Given the description of an element on the screen output the (x, y) to click on. 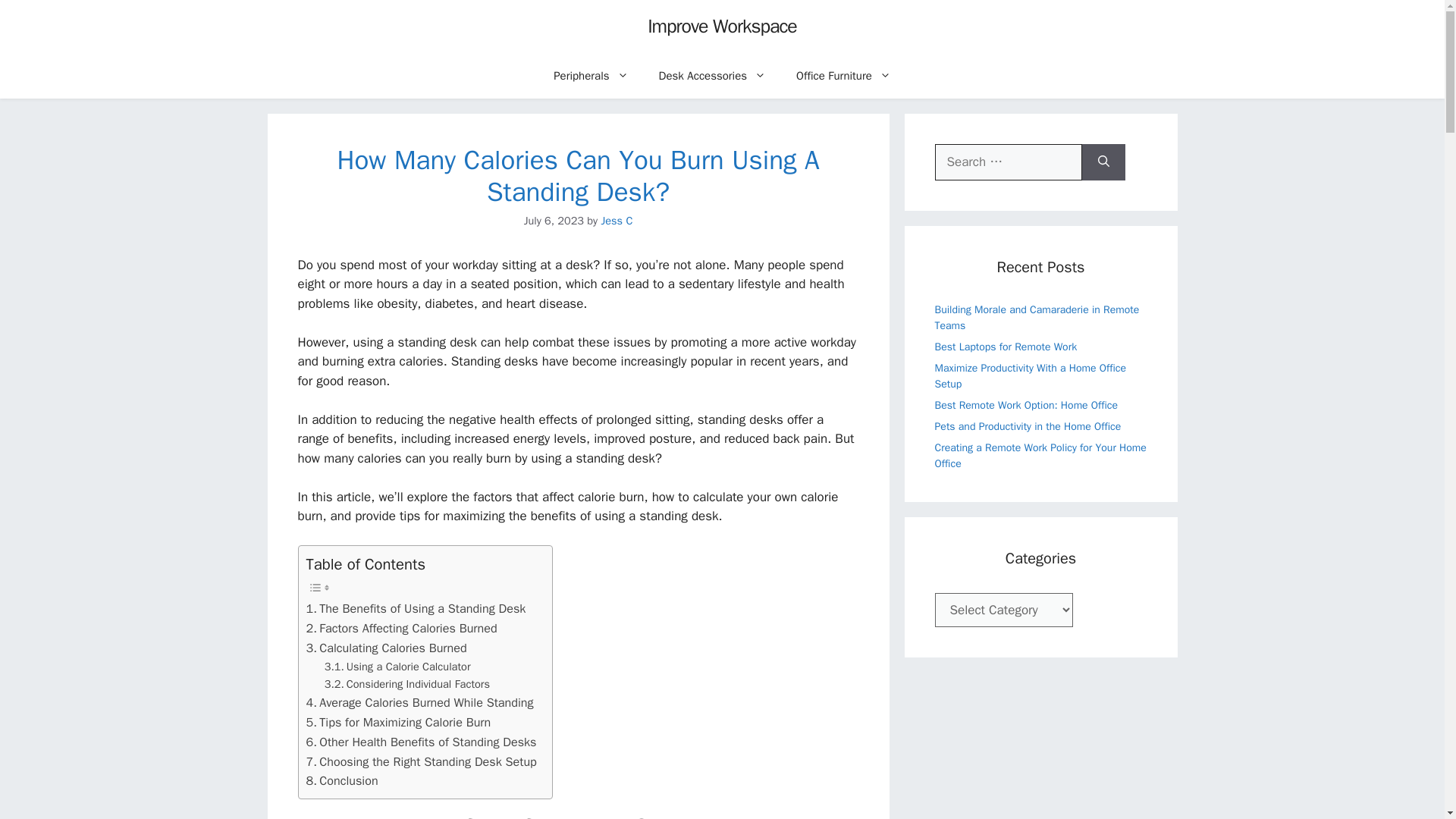
Best Remote Work Option: Home Office (1026, 404)
Peripherals (590, 75)
Conclusion (341, 781)
Factors Affecting Calories Burned (401, 628)
Best Laptops for Remote Work (1005, 345)
Search for: (1007, 162)
Pets and Productivity in the Home Office (1027, 426)
Building Morale and Camaraderie in Remote Teams (1036, 317)
Other Health Benefits of Standing Desks (421, 742)
Office Furniture (842, 75)
